Given the description of an element on the screen output the (x, y) to click on. 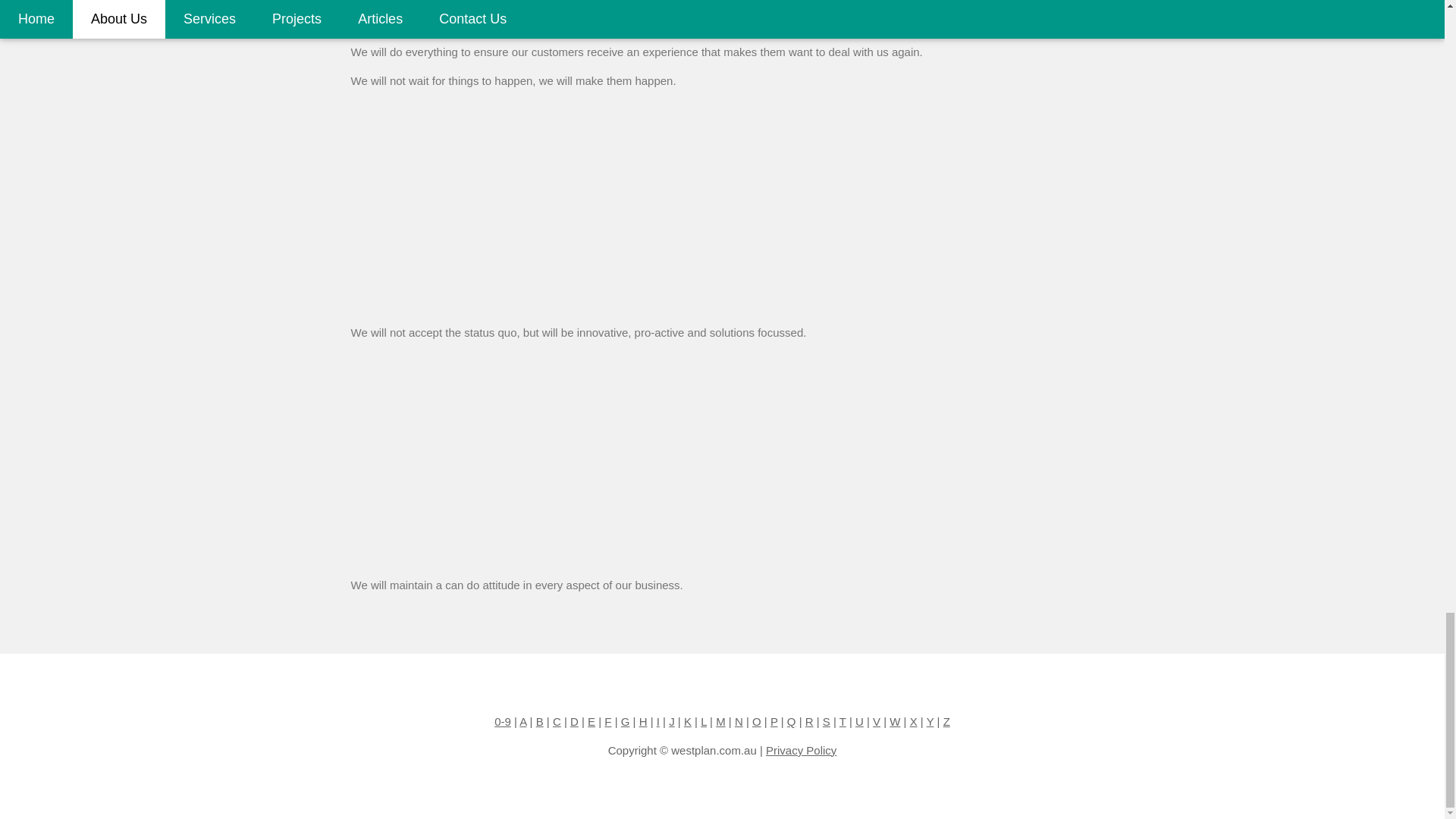
0-9 (503, 721)
